Given the description of an element on the screen output the (x, y) to click on. 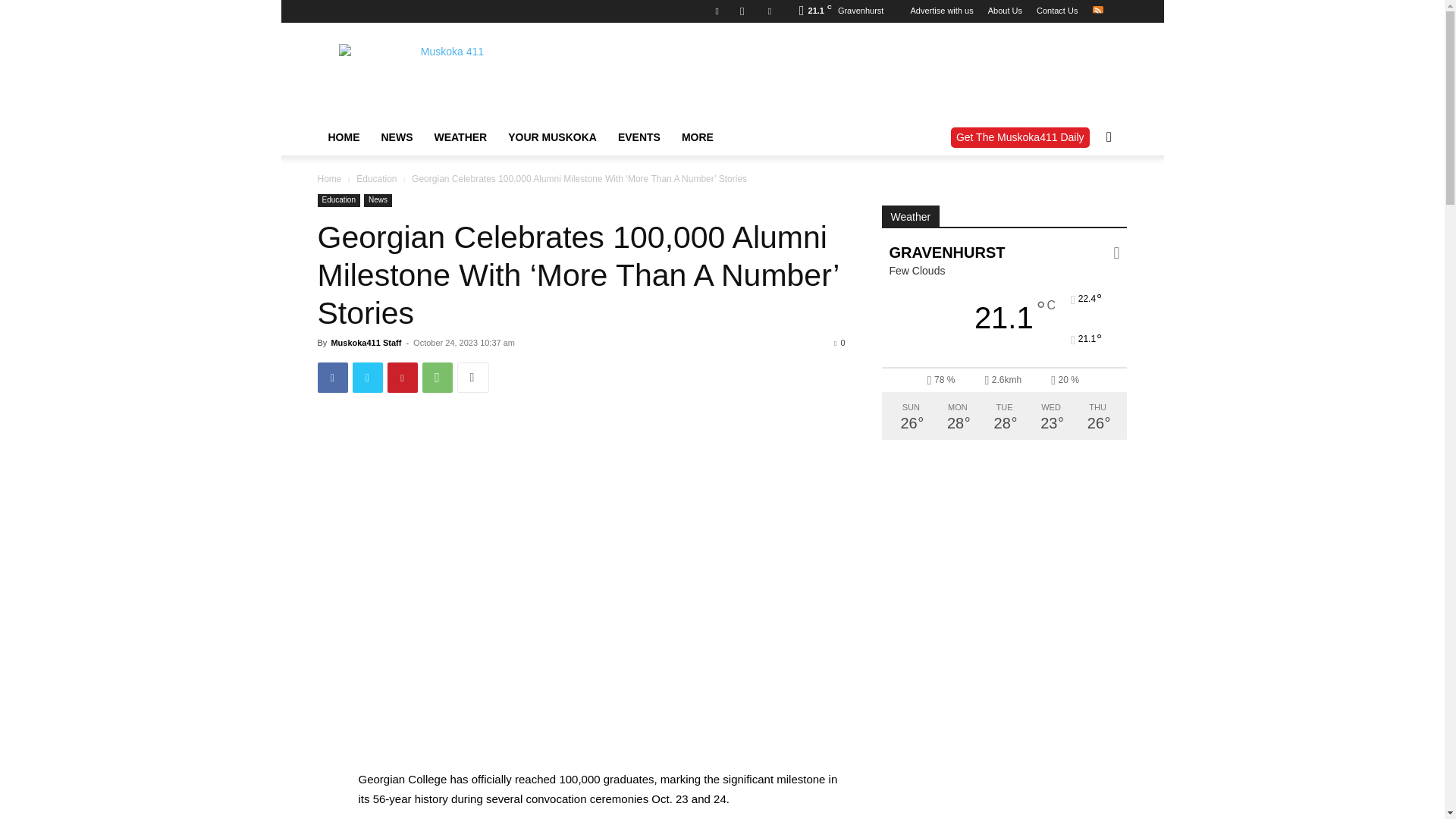
Contact Us (1056, 10)
Instagram (742, 10)
Rss (1097, 10)
Twitter (769, 10)
Twitter (366, 377)
Pinterest (401, 377)
Facebook (717, 10)
Advertise with us (941, 10)
About Us (1005, 10)
View all posts in Education (376, 178)
